Given the description of an element on the screen output the (x, y) to click on. 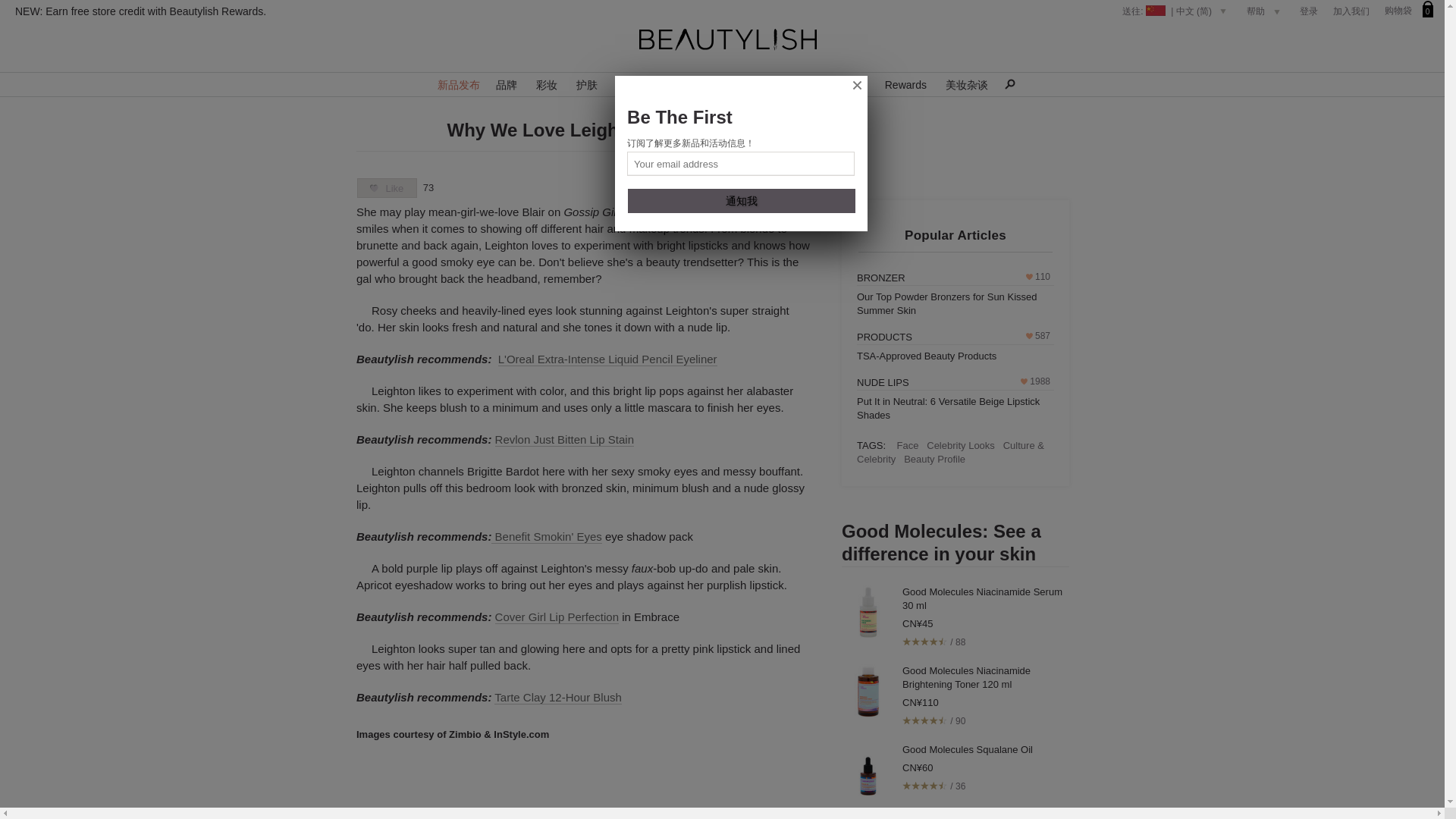
Pin It (735, 183)
